Given the description of an element on the screen output the (x, y) to click on. 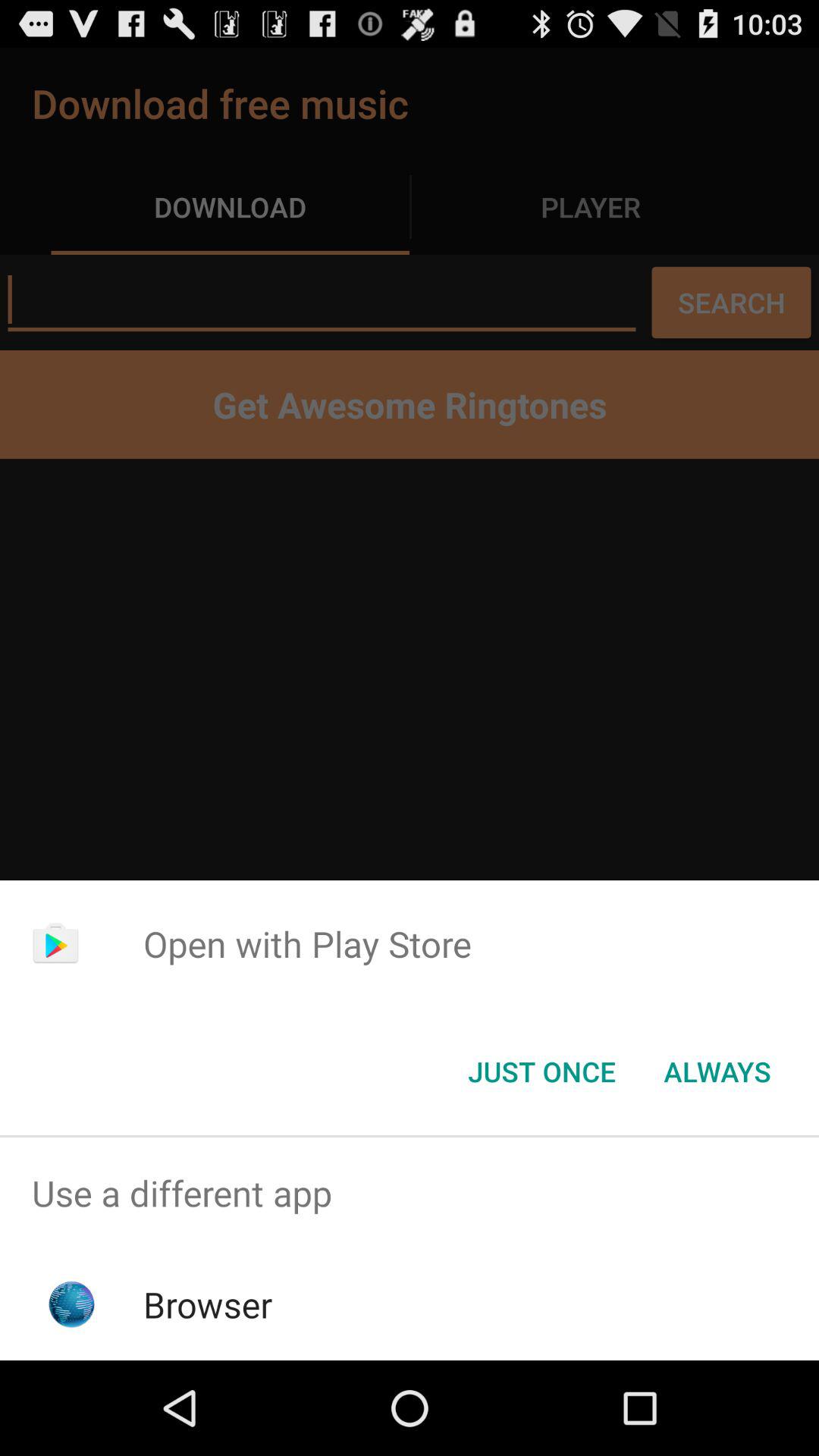
turn off icon below open with play item (717, 1071)
